Given the description of an element on the screen output the (x, y) to click on. 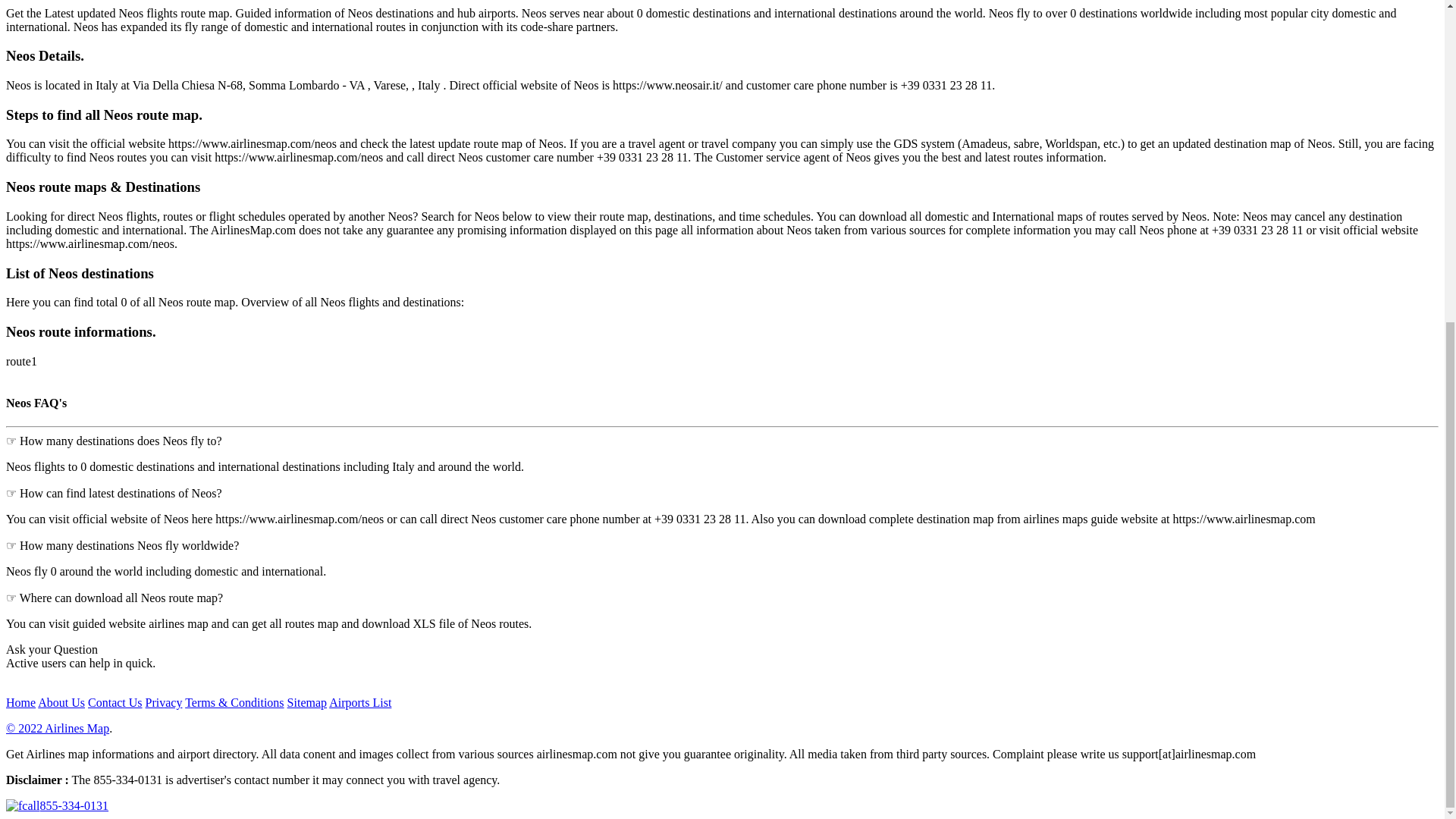
Contact Us (114, 702)
Airports List (360, 702)
Sitemap (360, 702)
About Us (60, 702)
About Us (60, 702)
Contact Us (114, 702)
Sitemap (306, 702)
Airlines Map (57, 727)
Home (19, 702)
Privacy (164, 702)
Privacy (164, 702)
855-334-0131 (56, 805)
Home (19, 702)
Sitemap (306, 702)
